Given the description of an element on the screen output the (x, y) to click on. 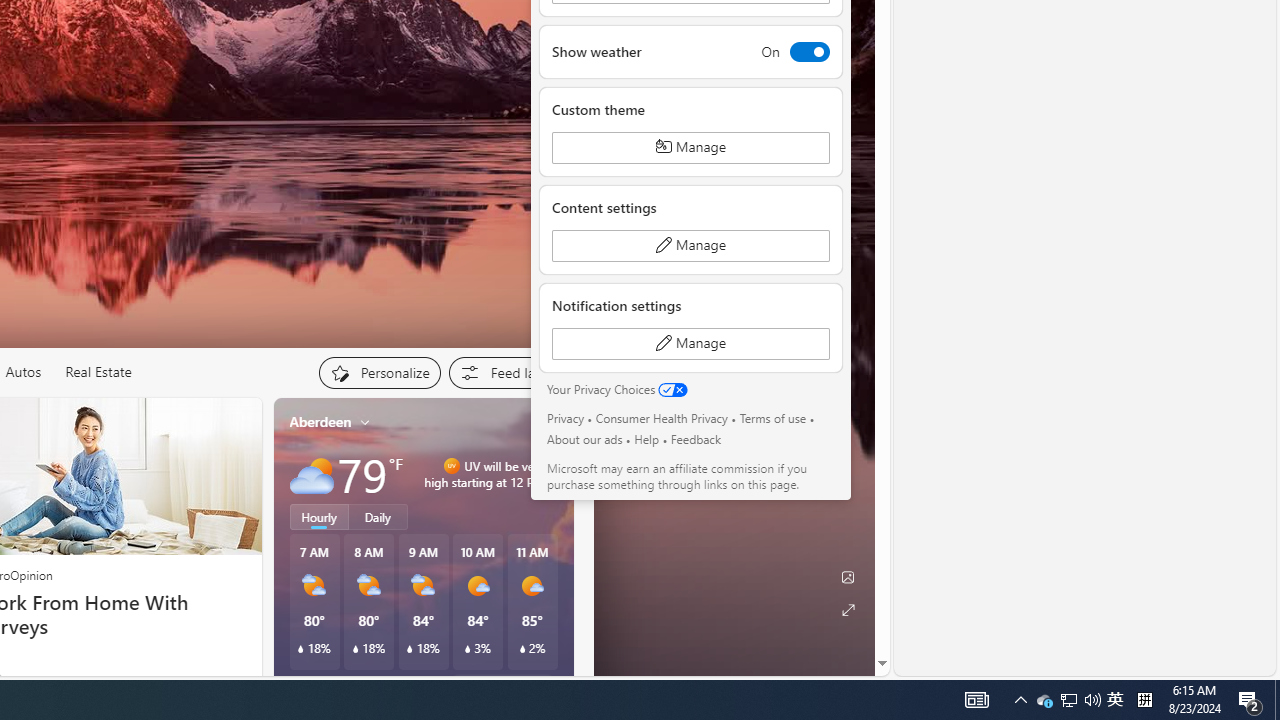
next (563, 549)
Class: weather-current-precipitation-glyph (522, 649)
UV will be very high starting at 12 PM (551, 474)
See full forecast (502, 685)
My location (365, 421)
Terms of use (772, 417)
Aberdeen (320, 422)
Help (646, 439)
Autos (22, 371)
Consumer Health Privacy (661, 417)
